Given the description of an element on the screen output the (x, y) to click on. 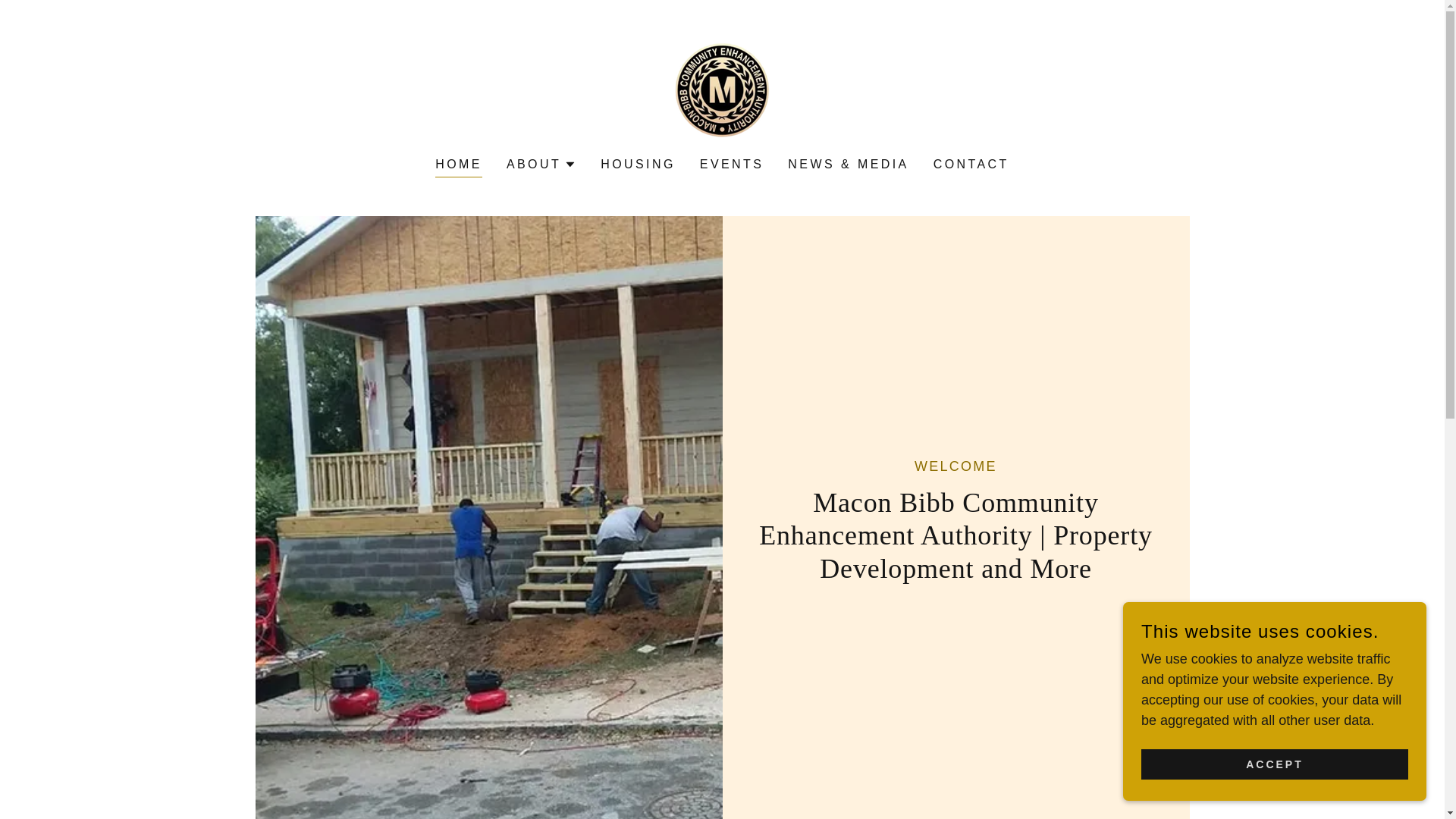
EVENTS (731, 164)
HOUSING (637, 164)
ABOUT (541, 164)
HOME (458, 166)
 Community Enhancement Authority (722, 88)
CONTACT (970, 164)
ACCEPT (1274, 764)
